Given the description of an element on the screen output the (x, y) to click on. 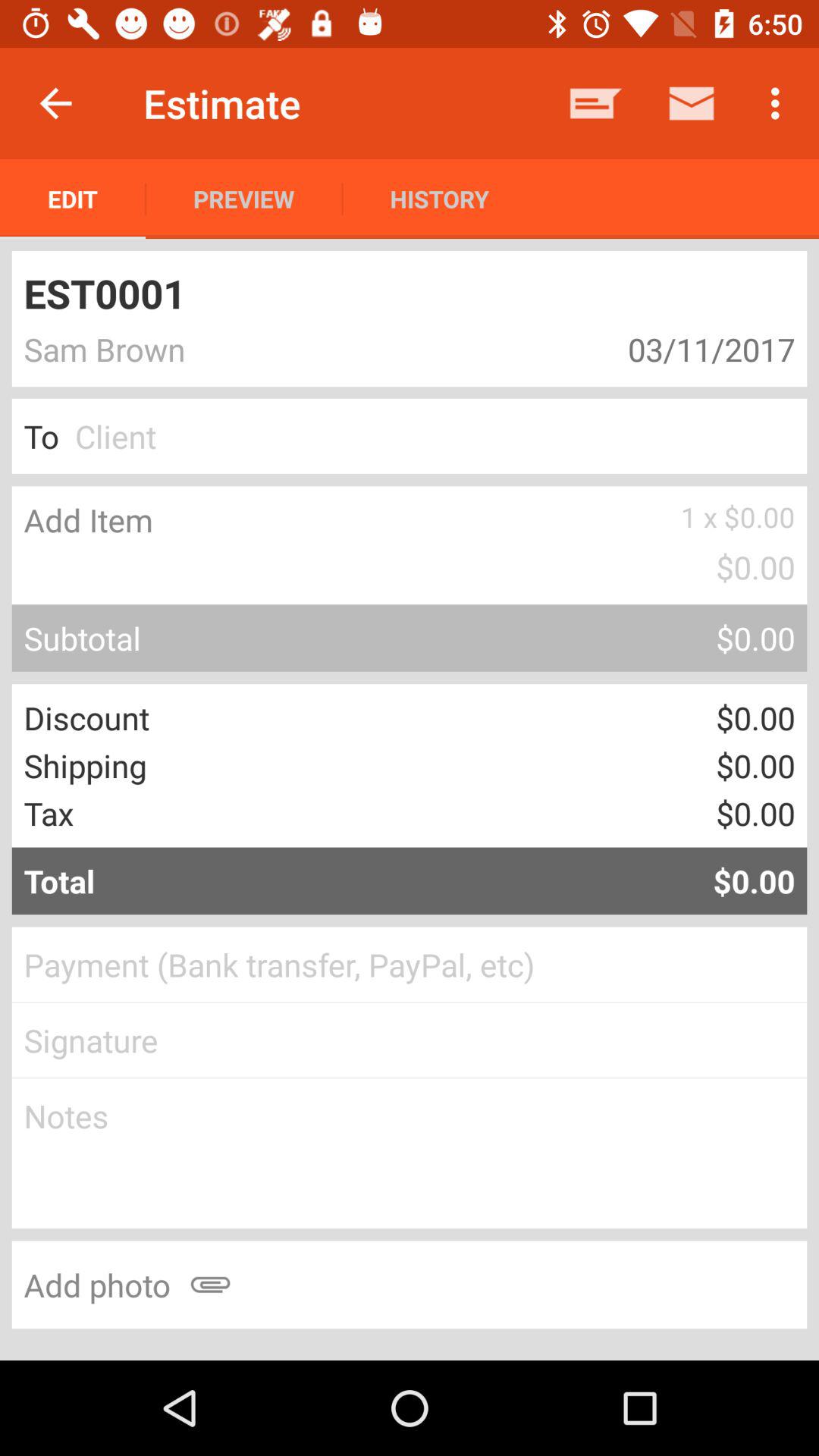
type notes (409, 1153)
